Given the description of an element on the screen output the (x, y) to click on. 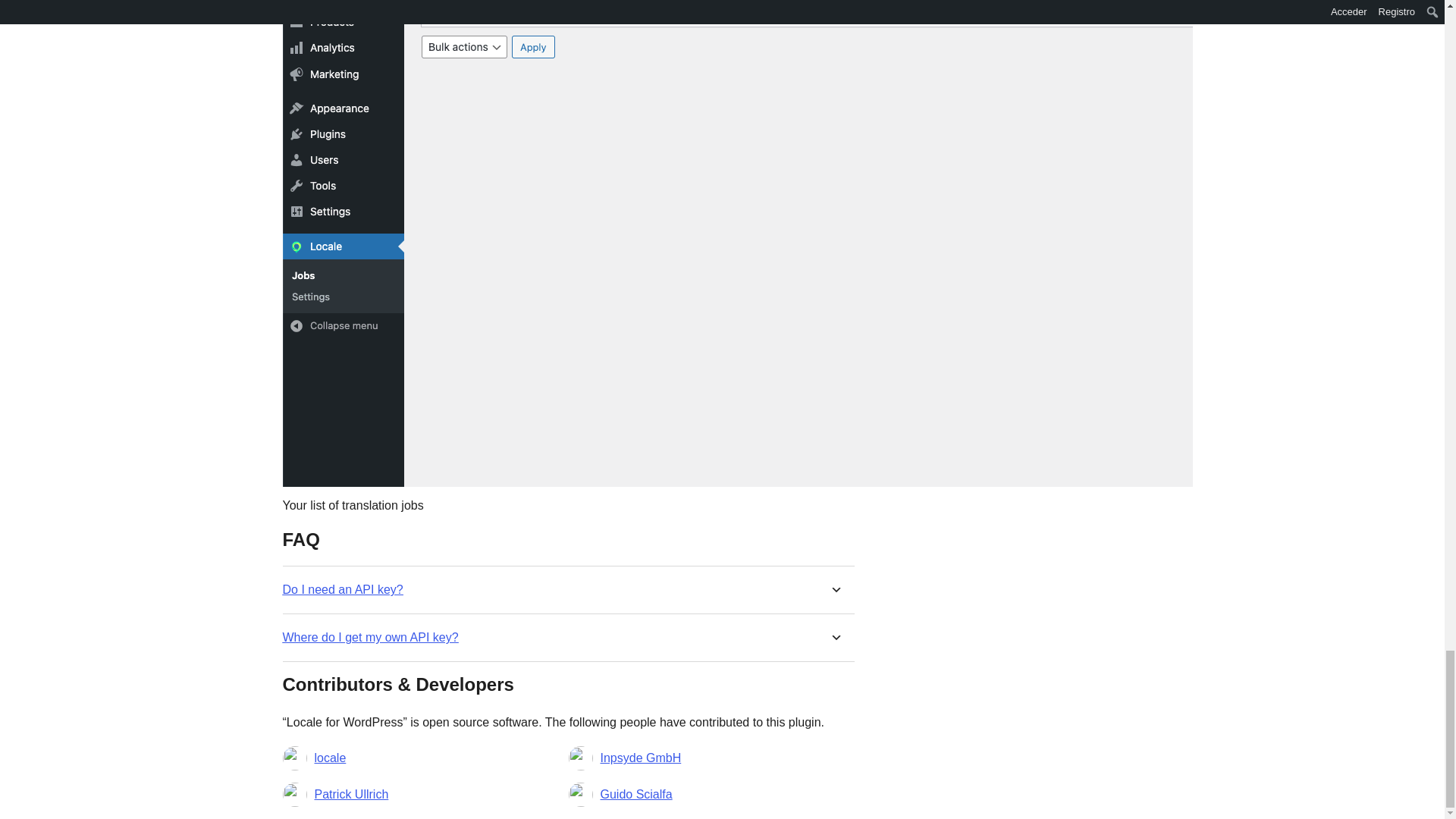
locale (330, 757)
Where do I get my own API key? (370, 636)
Do I need an API key? (342, 589)
